Given the description of an element on the screen output the (x, y) to click on. 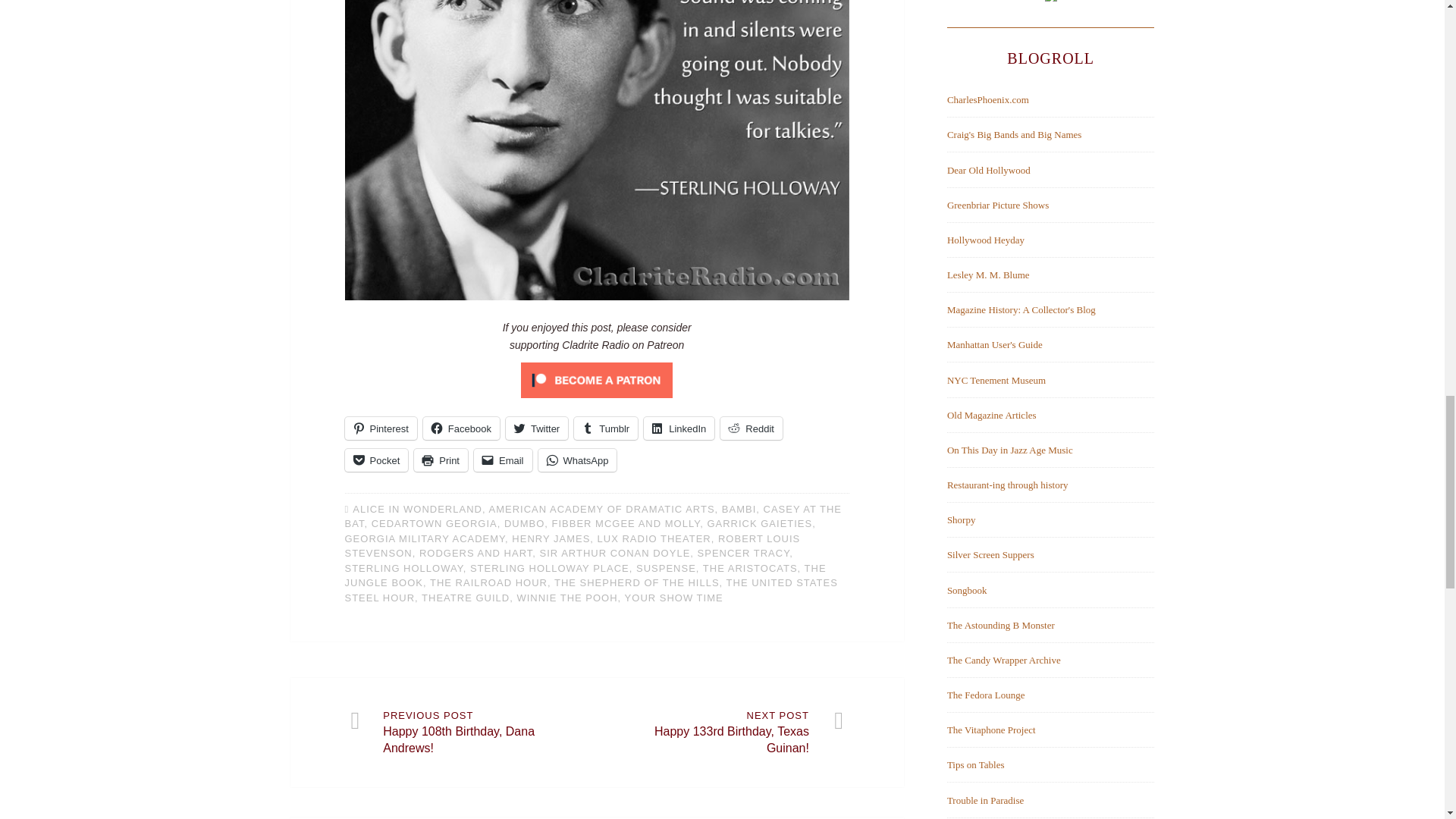
Click to share on Twitter (536, 427)
Click to share on WhatsApp (577, 459)
Click to share on Tumblr (605, 427)
Click to share on Reddit (751, 427)
Click to print (440, 459)
Reviews of performances of yesteryear (1014, 134)
The musings of a classic movie collector (997, 204)
Vintage slides, and so much more! (988, 99)
Click to email a link to a friend (503, 459)
Click to share on Pinterest (379, 427)
Click to share on Pocket (375, 459)
Sterling Holloway (595, 295)
News and pictures from the Golden Age of Hollywood (986, 239)
Click to share on LinkedIn (678, 427)
Click to share on Facebook (461, 427)
